Given the description of an element on the screen output the (x, y) to click on. 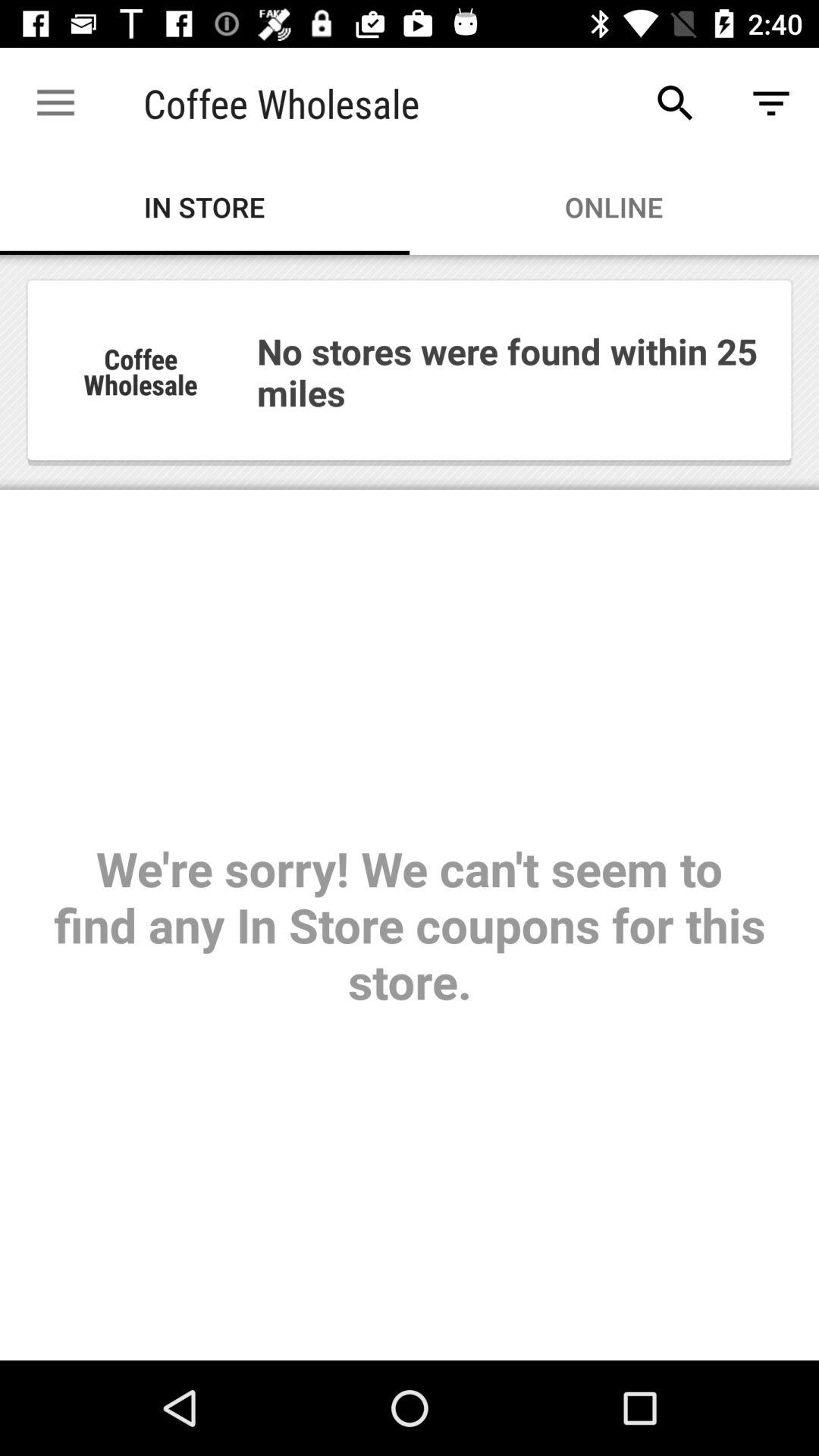
choose item above online item (675, 103)
